Given the description of an element on the screen output the (x, y) to click on. 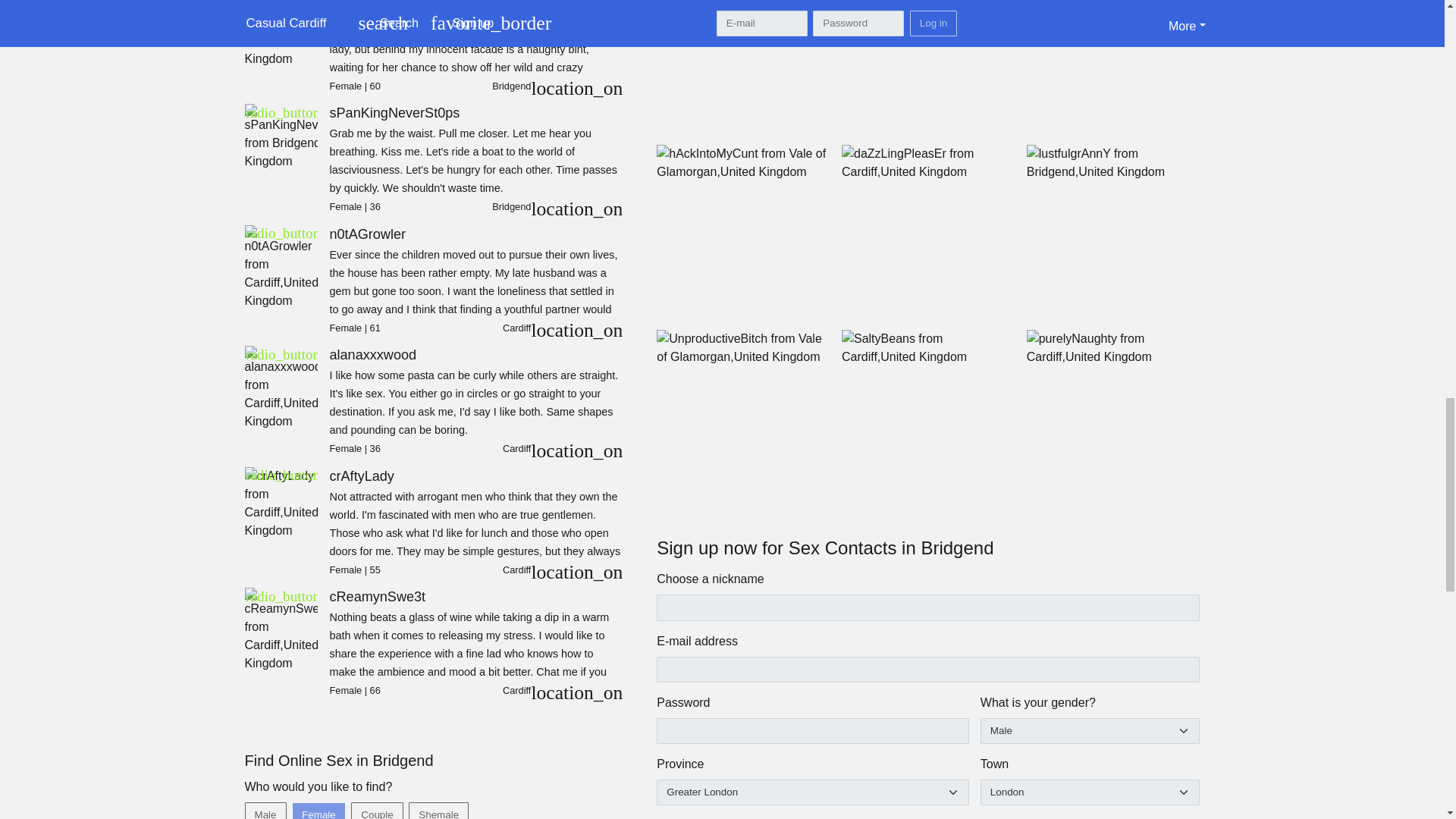
male (248, 807)
couple (355, 807)
female (296, 807)
shemale (414, 807)
